Given the description of an element on the screen output the (x, y) to click on. 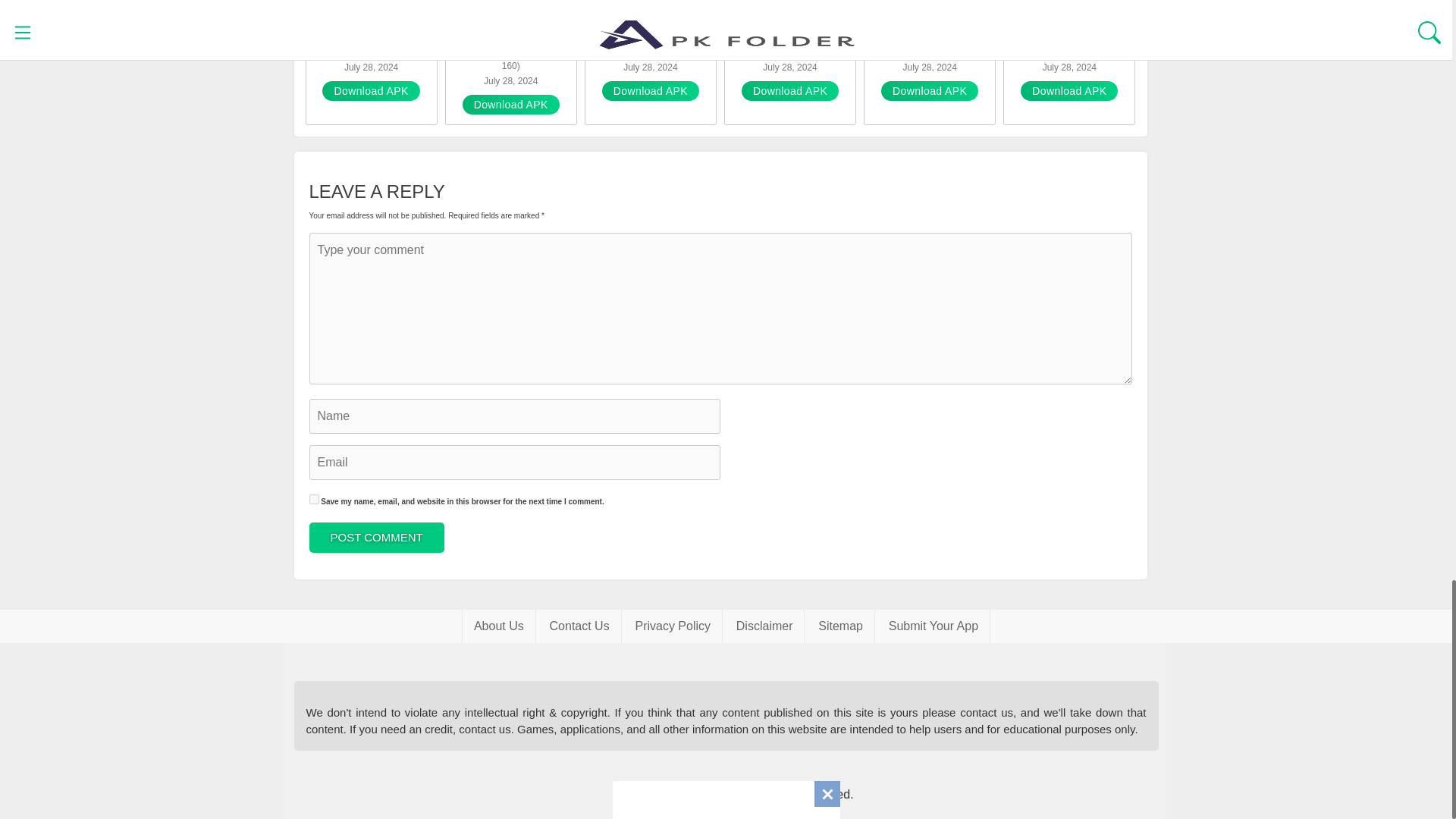
Download APK (929, 90)
Download APK (789, 90)
Download APK (511, 104)
Reborn Imoba (789, 32)
Post Comment (376, 537)
RDM87 Injector (1068, 32)
Download APK (1069, 90)
yes (313, 499)
Box MLBB Pro 2021 (929, 32)
I Moba Bangmamet (371, 32)
Post Comment (376, 537)
BMT Reborn (649, 32)
Download APK (650, 90)
New IMoba 2023 (510, 32)
Download APK (370, 90)
